Given the description of an element on the screen output the (x, y) to click on. 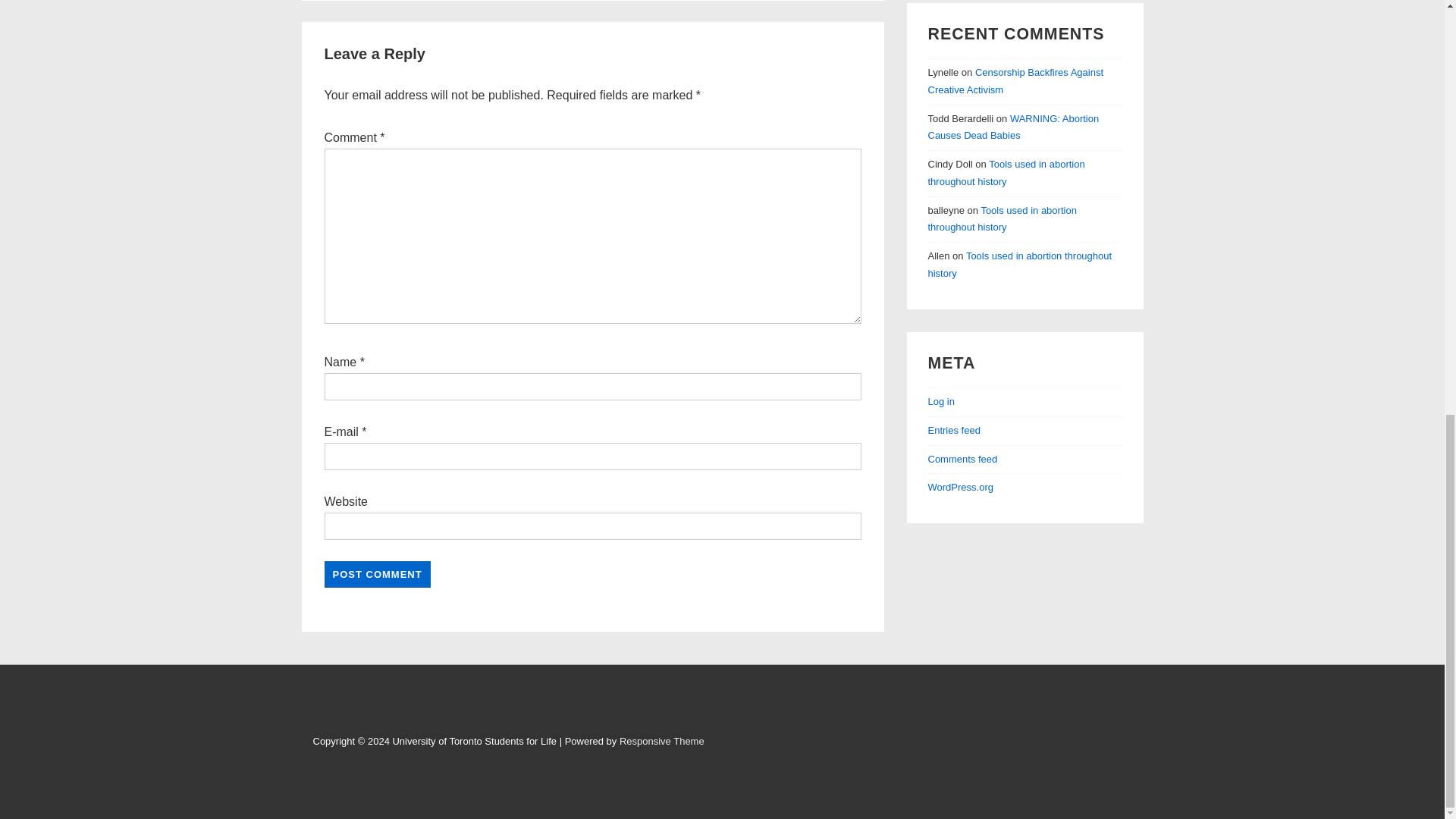
Post Comment (377, 574)
Post Comment (377, 574)
